Given the description of an element on the screen output the (x, y) to click on. 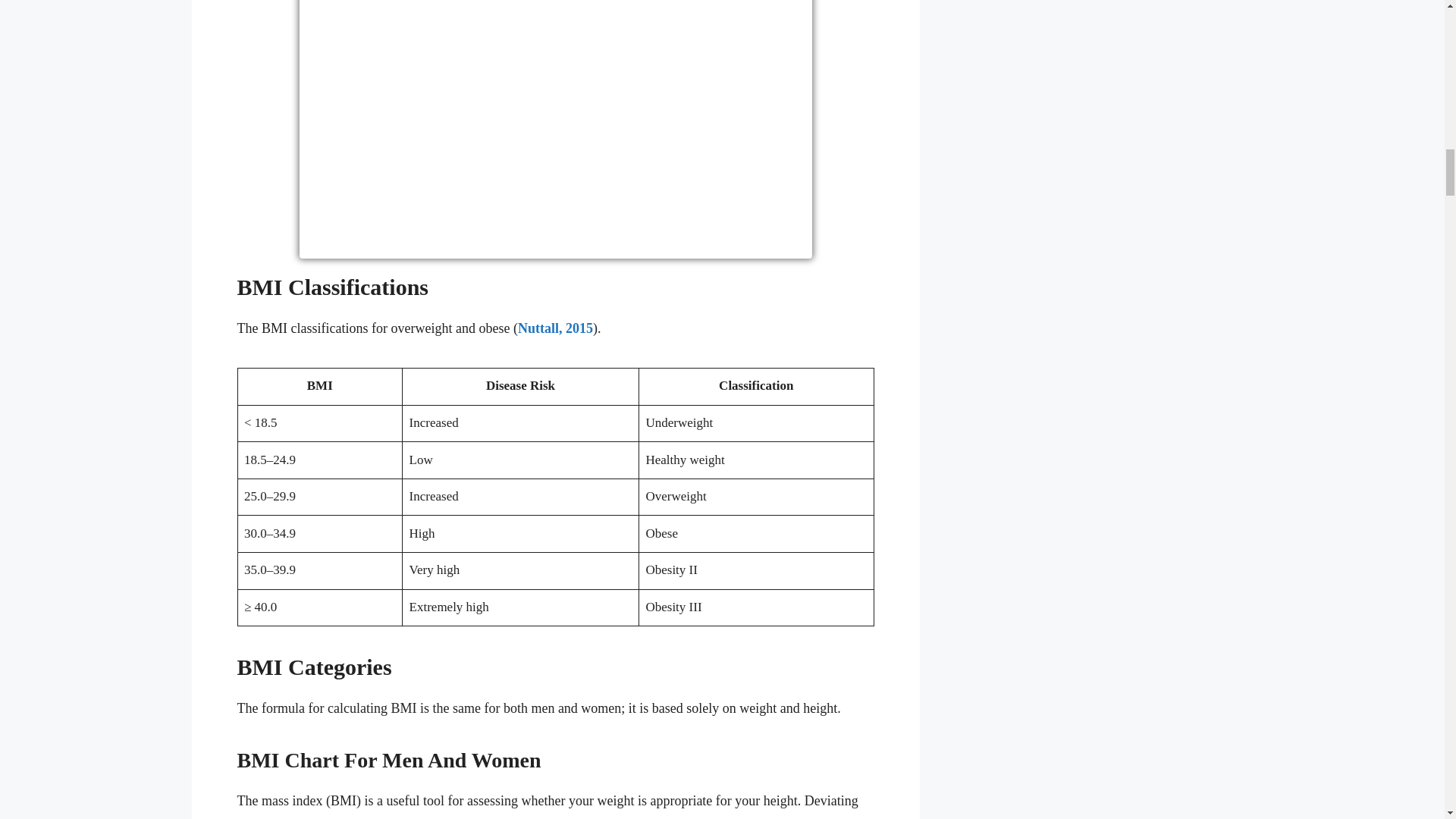
Nuttall, 2015 (555, 328)
